Given the description of an element on the screen output the (x, y) to click on. 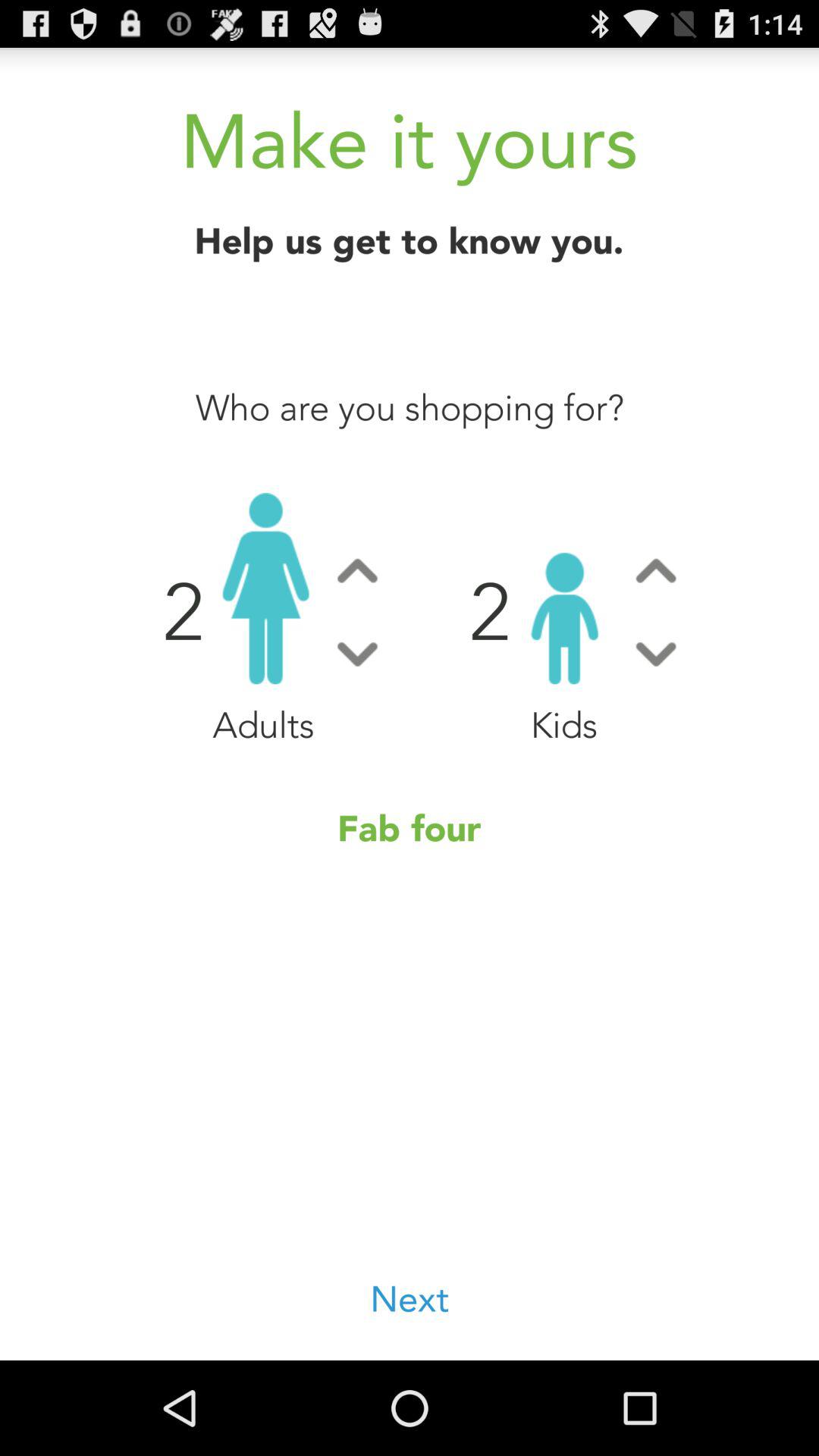
button to decrease number of adults (357, 654)
